Given the description of an element on the screen output the (x, y) to click on. 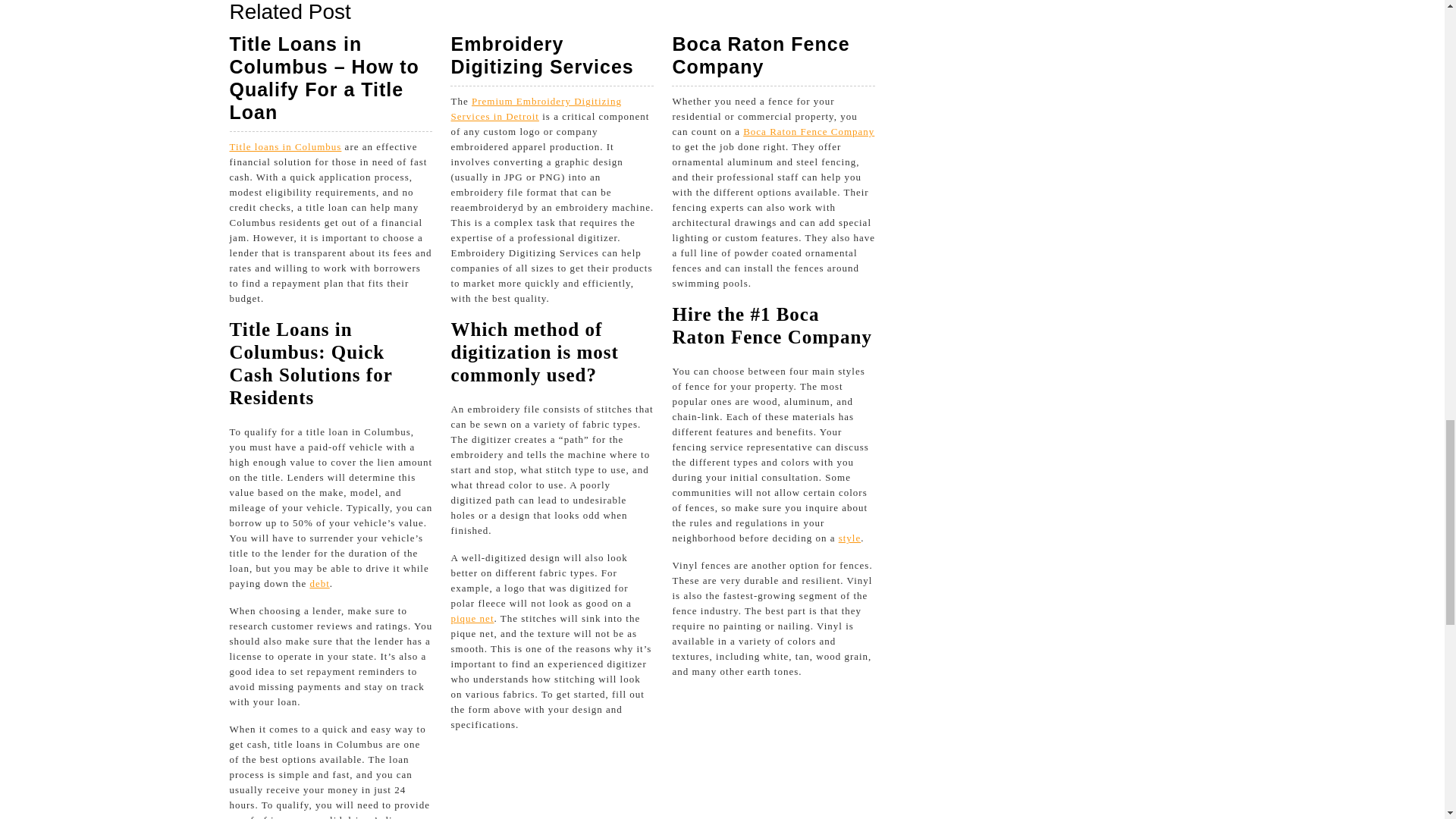
Boca Raton Fence Company (759, 54)
Premium Embroidery Digitizing Services in Detroit (808, 131)
pique net (535, 108)
style (471, 618)
debt (849, 537)
Title loans in Columbus (318, 583)
